Given the description of an element on the screen output the (x, y) to click on. 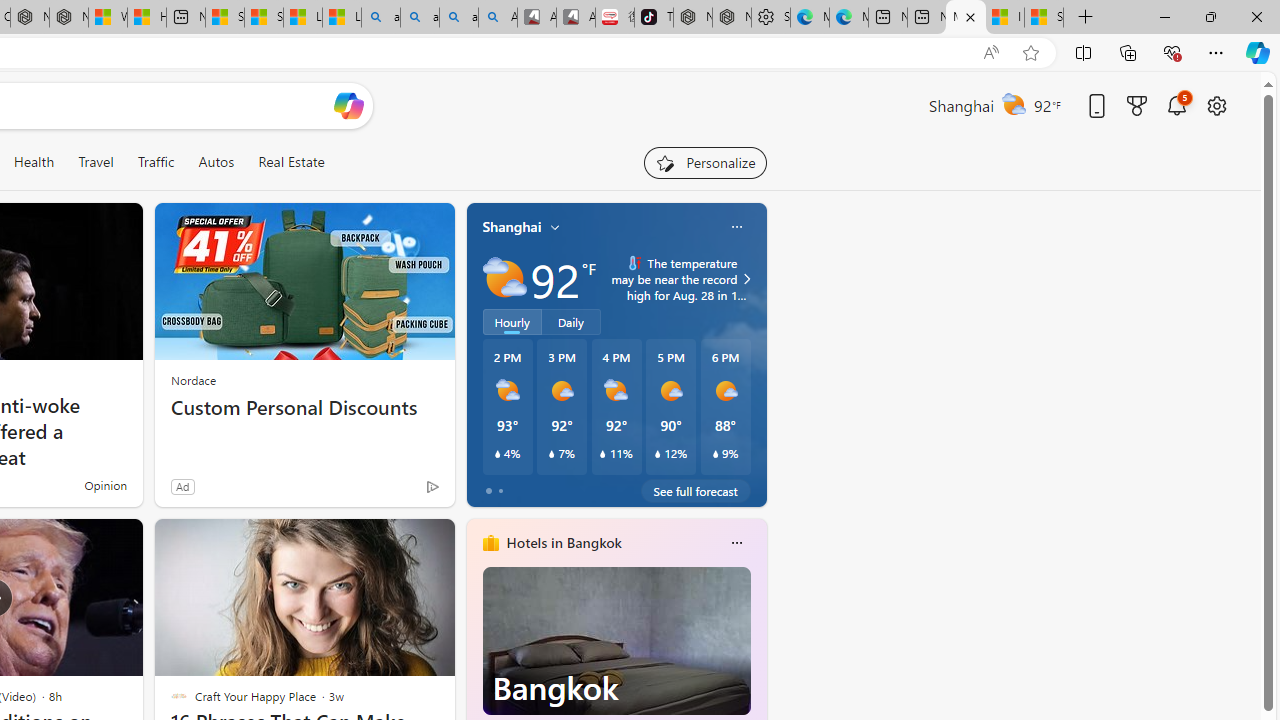
tab-1 (500, 490)
Shanghai (511, 227)
My location (555, 227)
Custom Personal Discounts (304, 407)
Nordace Siena Pro 15 Backpack (732, 17)
Daily (571, 321)
Travel (95, 162)
hotels-header-icon (490, 542)
